Given the description of an element on the screen output the (x, y) to click on. 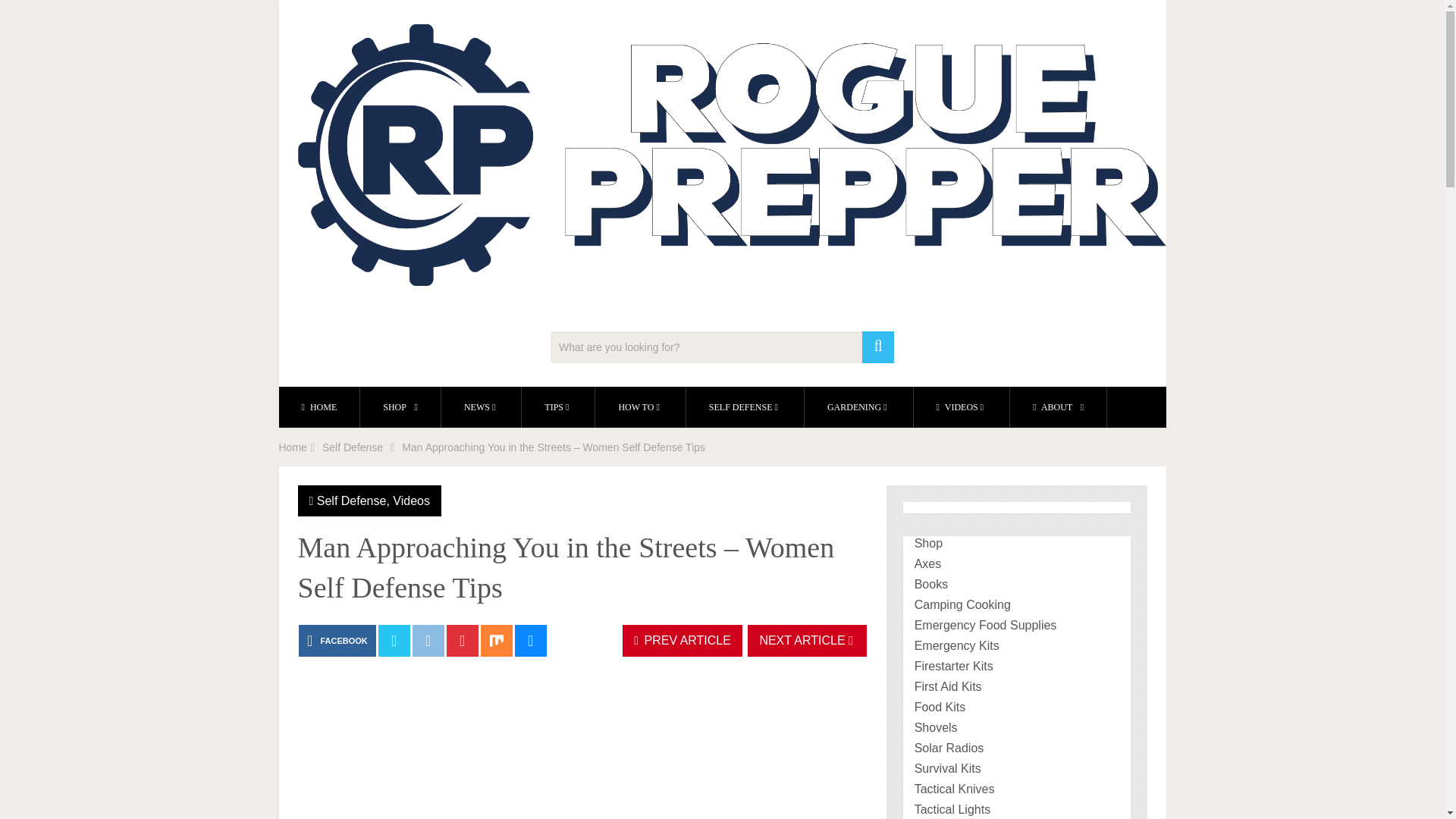
Self Defense (351, 447)
SELF DEFENSE (744, 406)
Home (293, 447)
HOW TO (639, 406)
NEXT ARTICLE (807, 640)
GARDENING (858, 406)
SHOP (400, 406)
TIPS (557, 406)
HOME (319, 406)
ABOUT (1058, 406)
NEWS (481, 406)
PREV ARTICLE (682, 640)
Self Defense (352, 500)
Videos (411, 500)
VIDEOS (962, 406)
